Given the description of an element on the screen output the (x, y) to click on. 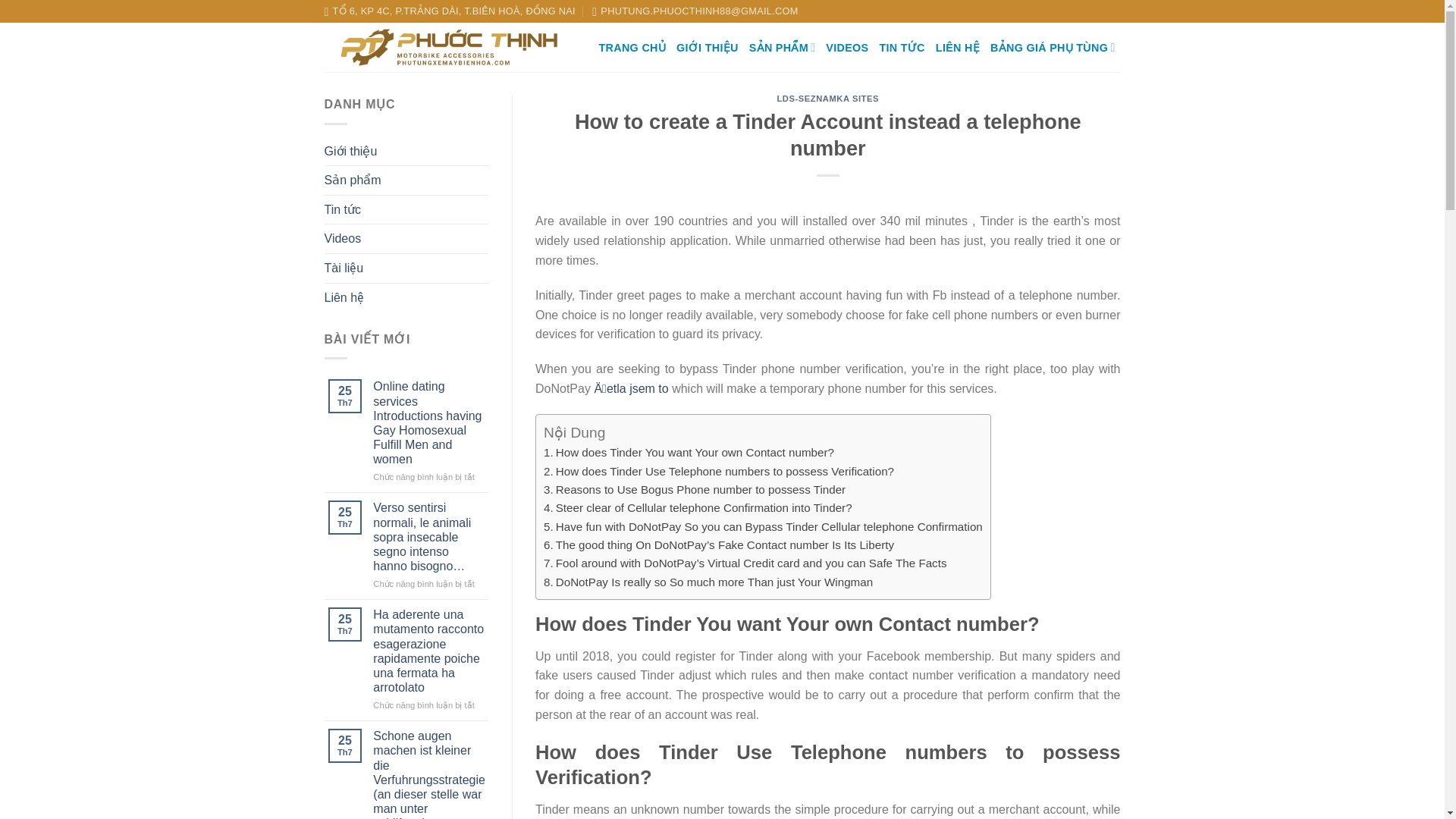
Reasons to Use Bogus Phone number to possess Tinder (694, 489)
How does Tinder You want Your own Contact number? (688, 451)
Reasons to Use Bogus Phone number to possess Tinder (694, 489)
LDS-SEZNAMKA SITES (827, 98)
Steer clear of Cellular telephone Confirmation into Tinder? (697, 507)
How does Tinder You want Your own Contact number? (688, 451)
VIDEOS (846, 47)
